Given the description of an element on the screen output the (x, y) to click on. 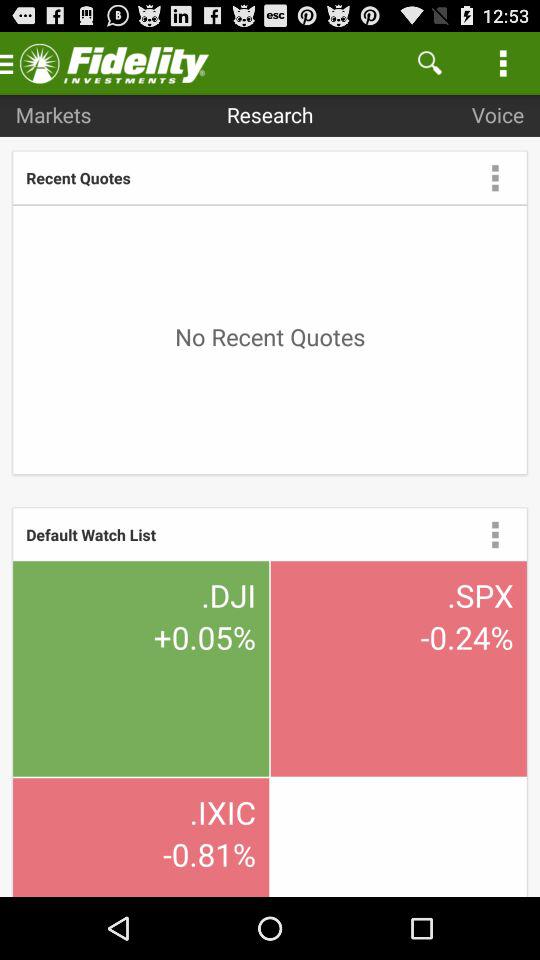
menu drop box (495, 177)
